Given the description of an element on the screen output the (x, y) to click on. 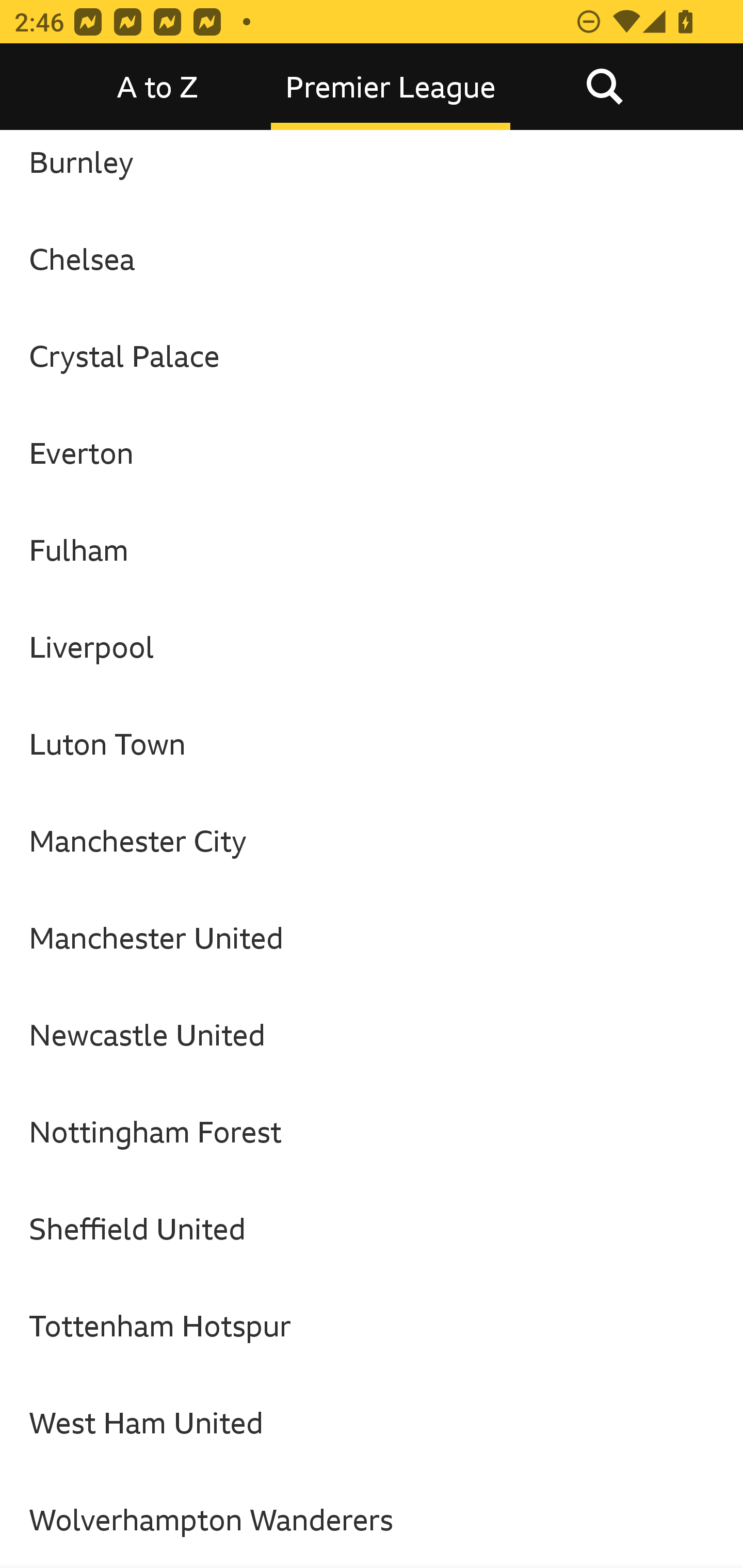
A to Z (157, 86)
Search (604, 86)
Burnley (371, 170)
Chelsea (371, 258)
Crystal Palace (371, 355)
Everton (371, 452)
Fulham (371, 549)
Liverpool (371, 646)
Luton Town (371, 742)
Manchester City (371, 840)
Manchester United (371, 937)
Newcastle United (371, 1034)
Nottingham Forest (371, 1131)
Sheffield United (371, 1228)
Tottenham Hotspur (371, 1324)
West Ham United (371, 1421)
Wolverhampton Wanderers (371, 1519)
